Given the description of an element on the screen output the (x, y) to click on. 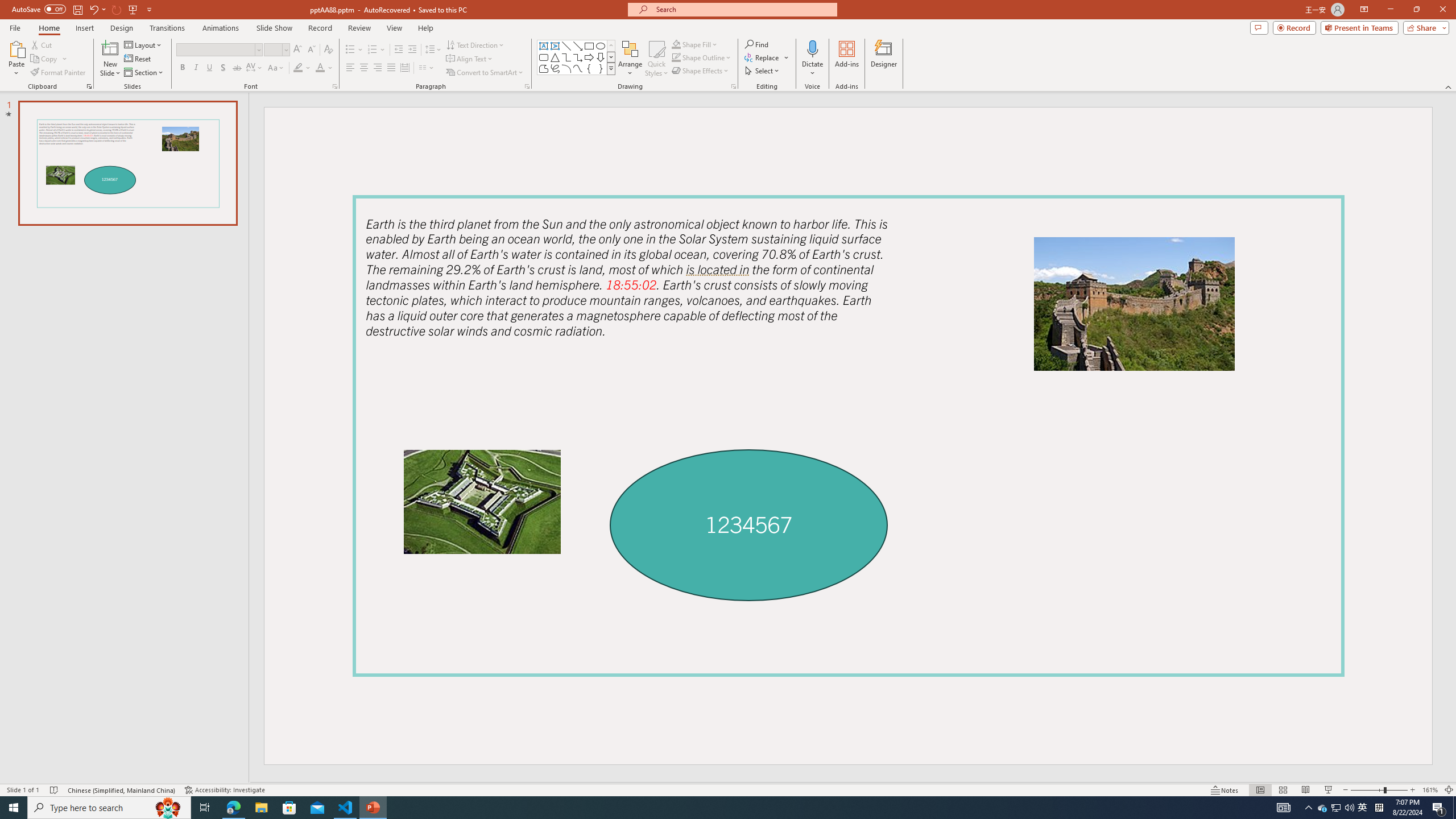
Shape Fill Aqua, Accent 2 (675, 44)
